Given the description of an element on the screen output the (x, y) to click on. 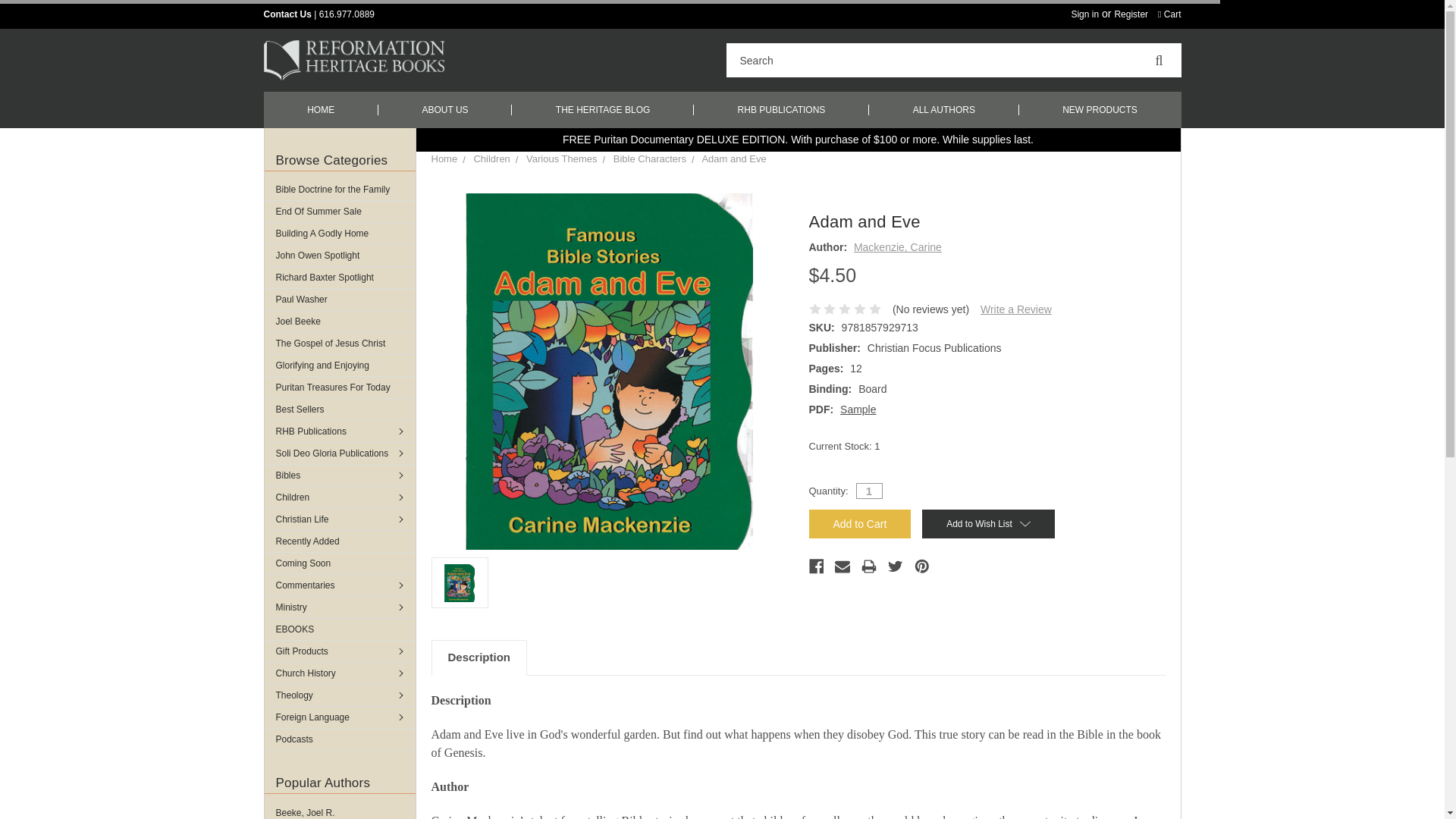
Joel Beeke (338, 321)
Richard Baxter Spotlight (338, 277)
ABOUT US (445, 109)
Best Sellers (338, 409)
Glorifying and Enjoying (338, 364)
End Of Summer Sale (338, 210)
ALL AUTHORS (944, 109)
Cart (1169, 14)
Paul Washer (338, 299)
1 (869, 490)
